Given the description of an element on the screen output the (x, y) to click on. 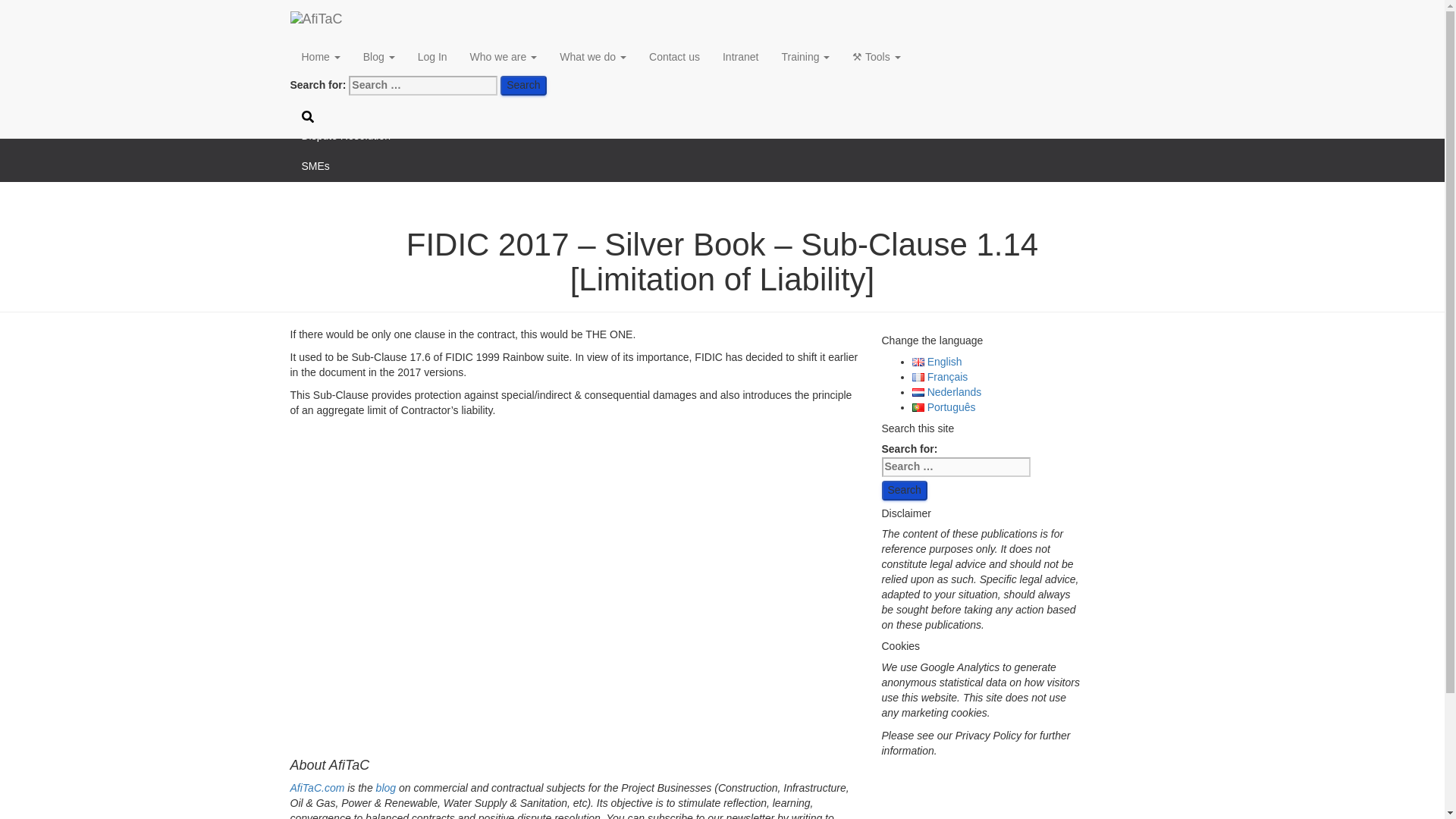
Tendering for Contracts (721, 105)
Contract Management (721, 45)
AfiTaC (397, 18)
Log In (432, 56)
Search (523, 85)
Search (523, 85)
Contract Management (721, 45)
Blog (379, 56)
Search (903, 490)
Contract Negotiation (721, 15)
